Given the description of an element on the screen output the (x, y) to click on. 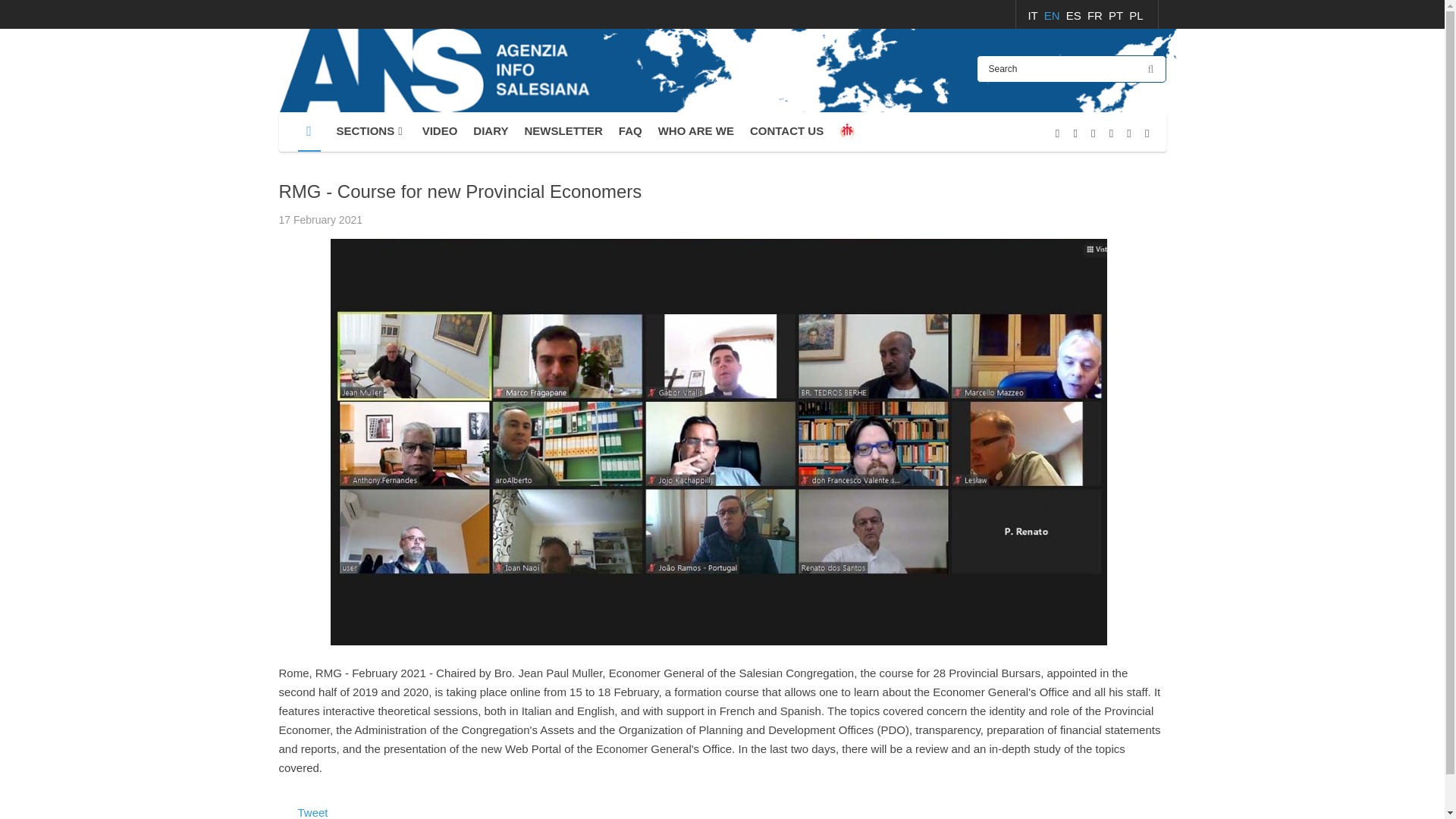
Video (440, 131)
PL (1135, 15)
Search (1071, 68)
PT (1116, 15)
VIDEO (440, 131)
NEWSLETTER (563, 131)
FR (1096, 15)
ES (1074, 15)
CONTACT US (786, 131)
EN (1052, 15)
